Given the description of an element on the screen output the (x, y) to click on. 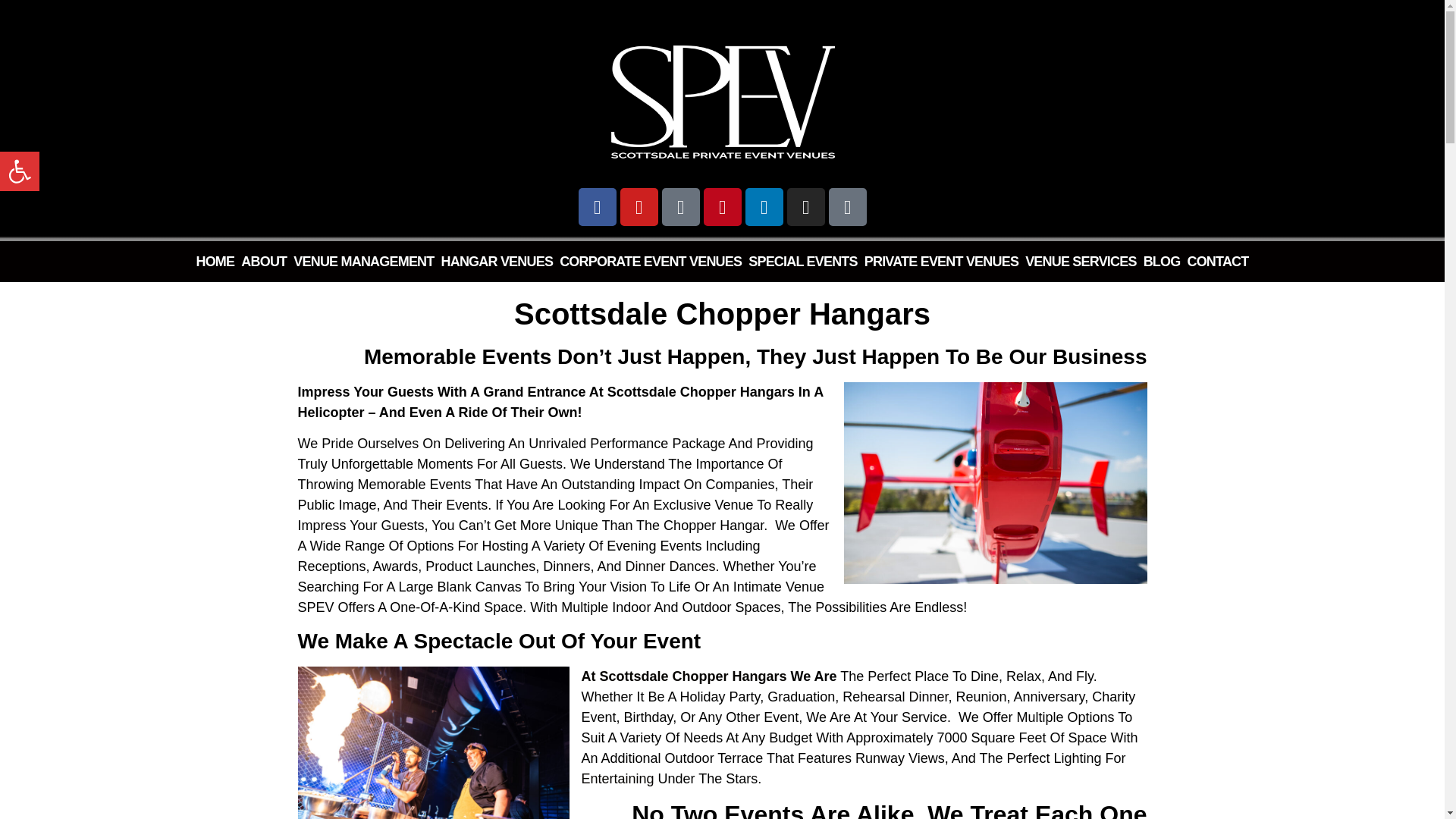
HOME (214, 261)
CORPORATE EVENT VENUES (649, 261)
Accessibility Tools (19, 170)
HANGAR VENUES (496, 261)
ABOUT (264, 261)
SPECIAL EVENTS (802, 261)
Accessibility Tools (19, 170)
VENUE MANAGEMENT (19, 170)
